Given the description of an element on the screen output the (x, y) to click on. 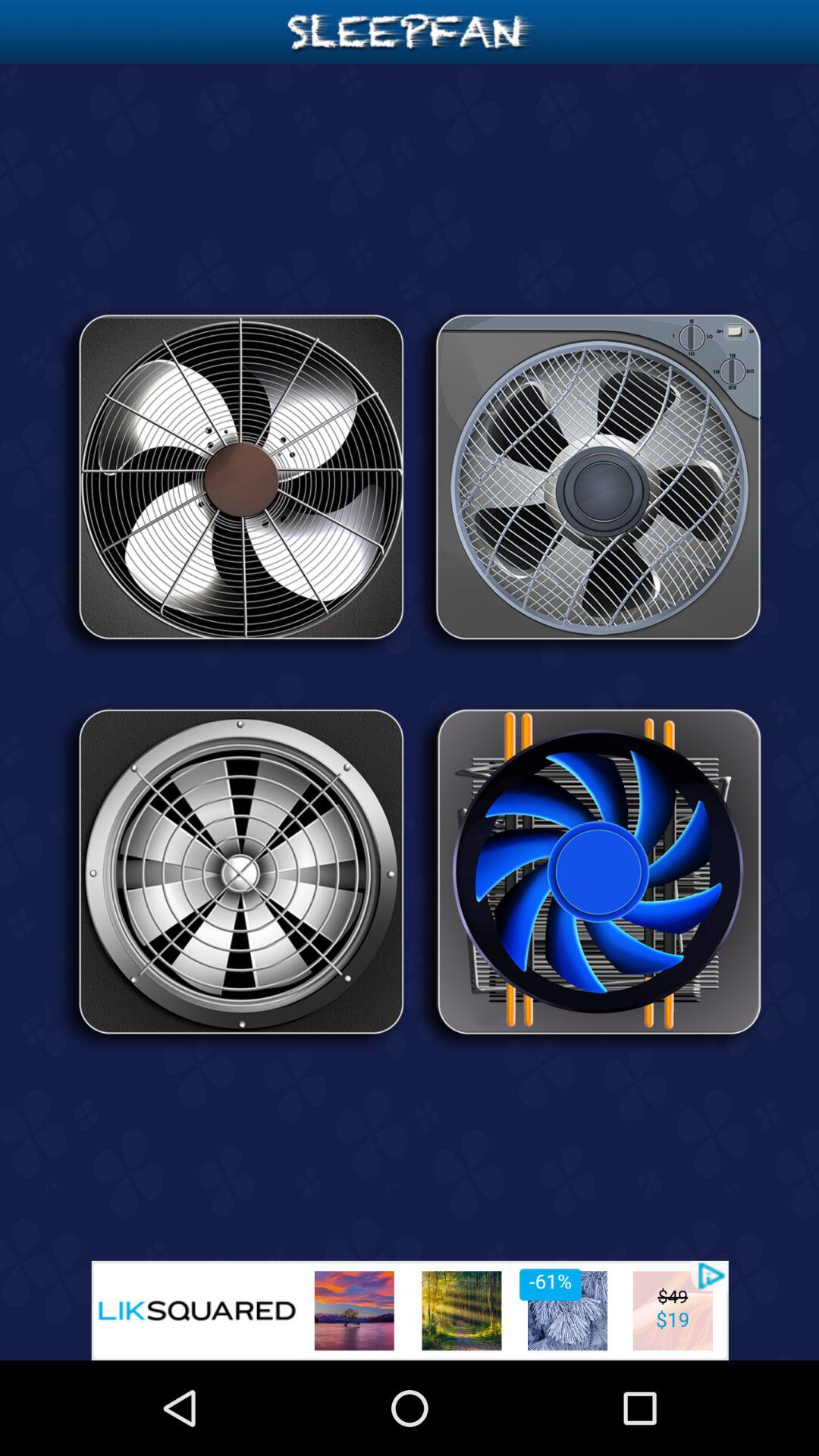
choose style (230, 482)
